Given the description of an element on the screen output the (x, y) to click on. 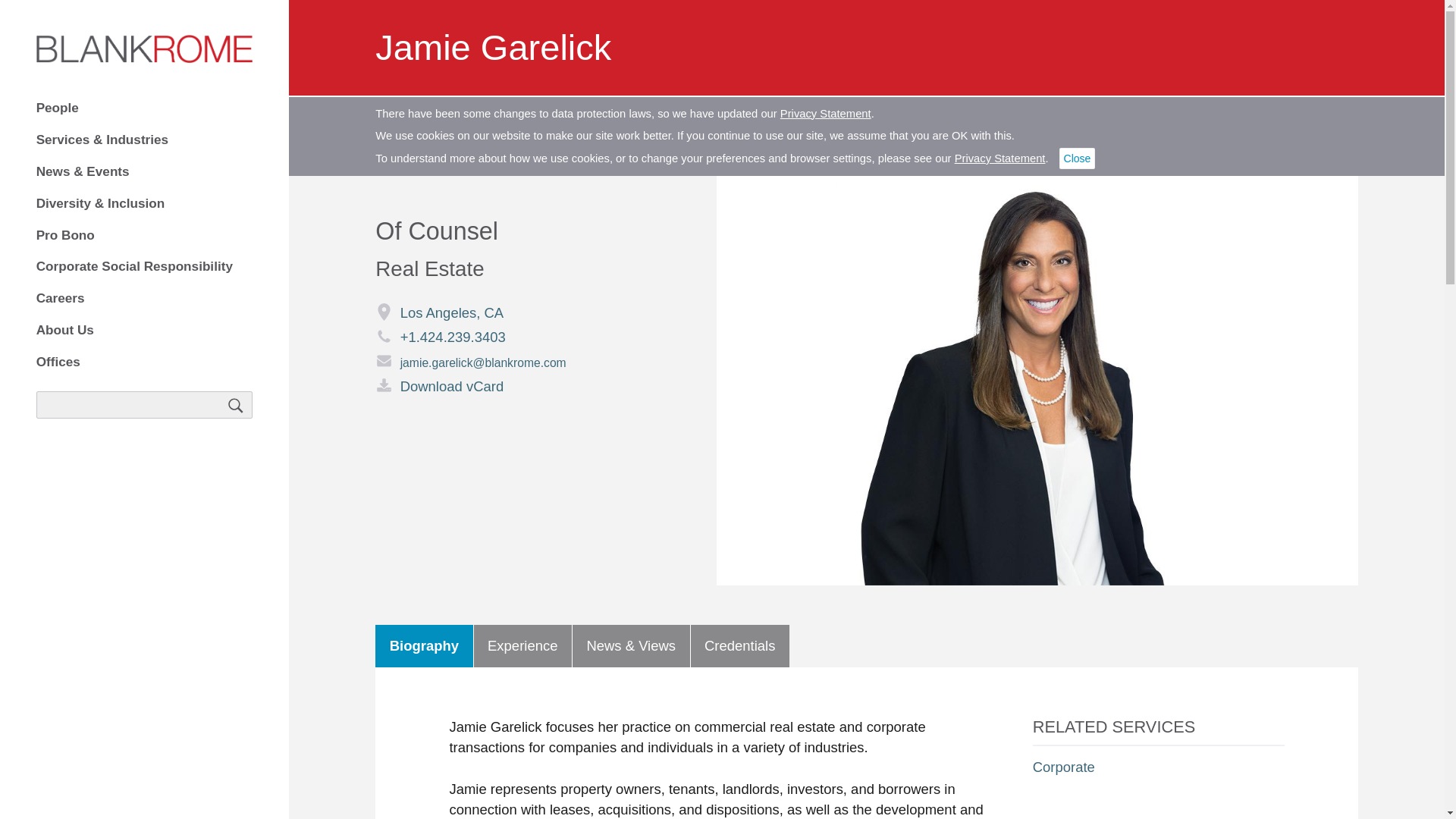
Privacy Statement (825, 113)
Search (236, 405)
Corporate (1063, 766)
About Us (144, 330)
Careers (144, 298)
Los Angeles, CA (439, 312)
Pro Bono (144, 235)
Download vCard (526, 386)
People (144, 107)
